Given the description of an element on the screen output the (x, y) to click on. 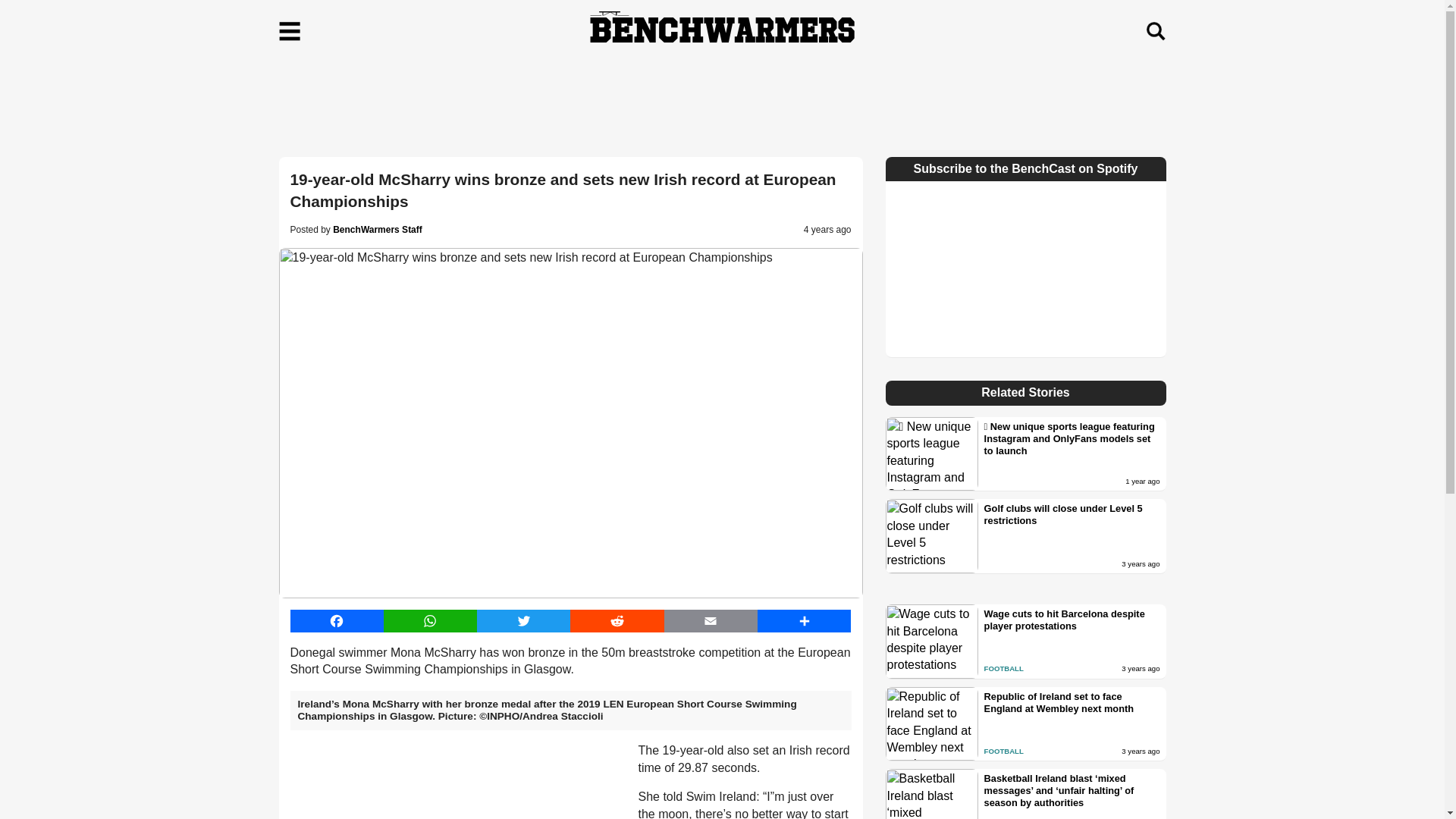
Golf clubs will close under Level 5 restrictions (1072, 514)
WhatsApp (430, 620)
View more articles by BenchWarmers Staff (377, 229)
Email (710, 620)
Share (803, 620)
Reddit (616, 620)
Twitter (523, 620)
Facebook (335, 620)
FOOTBALL (1003, 668)
BenchWarmers Staff (377, 229)
Menu (289, 30)
Search (1155, 30)
Wage cuts to hit Barcelona despite player protestations (1072, 620)
